Given the description of an element on the screen output the (x, y) to click on. 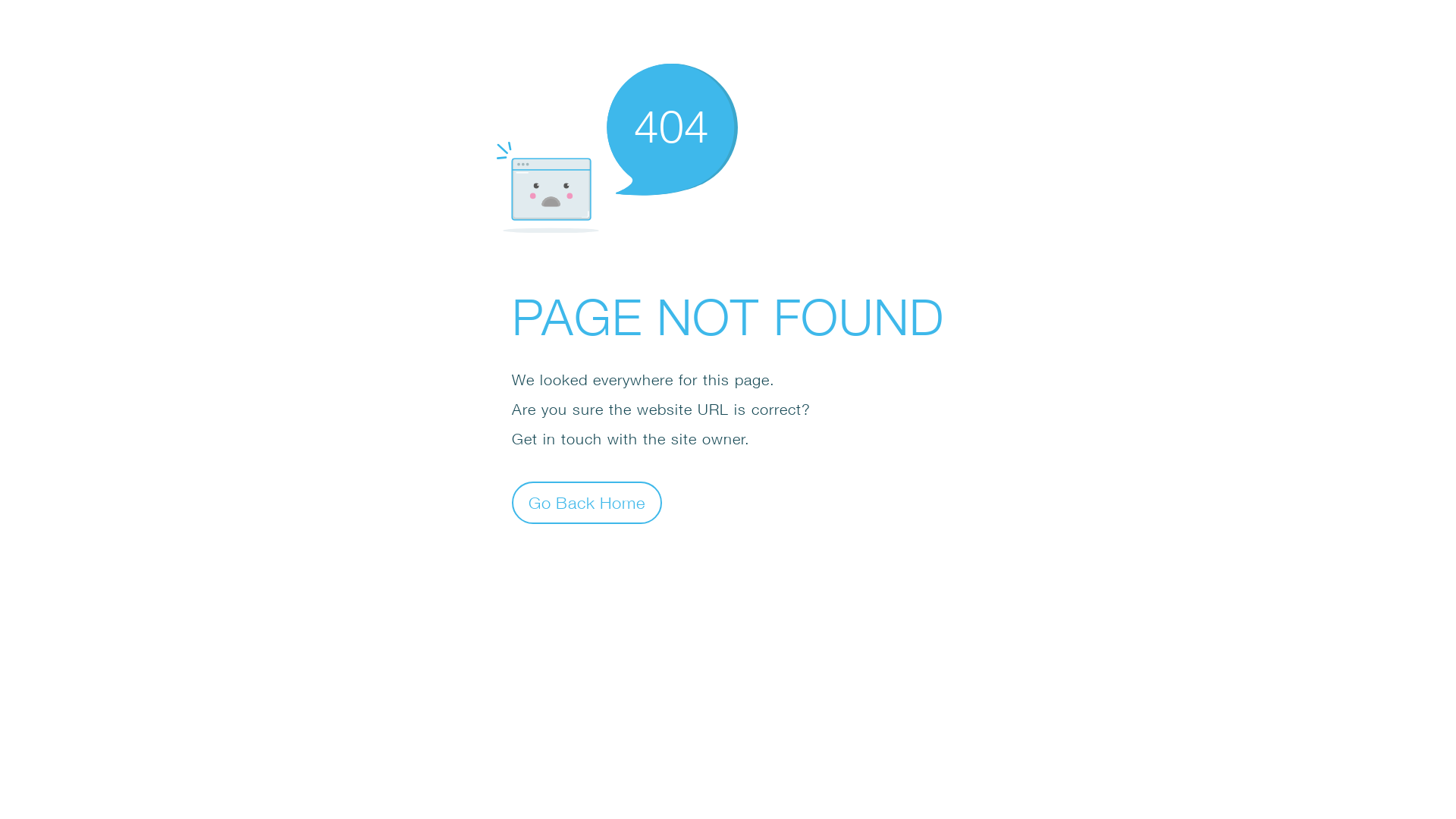
Go Back Home Element type: text (586, 502)
